Given the description of an element on the screen output the (x, y) to click on. 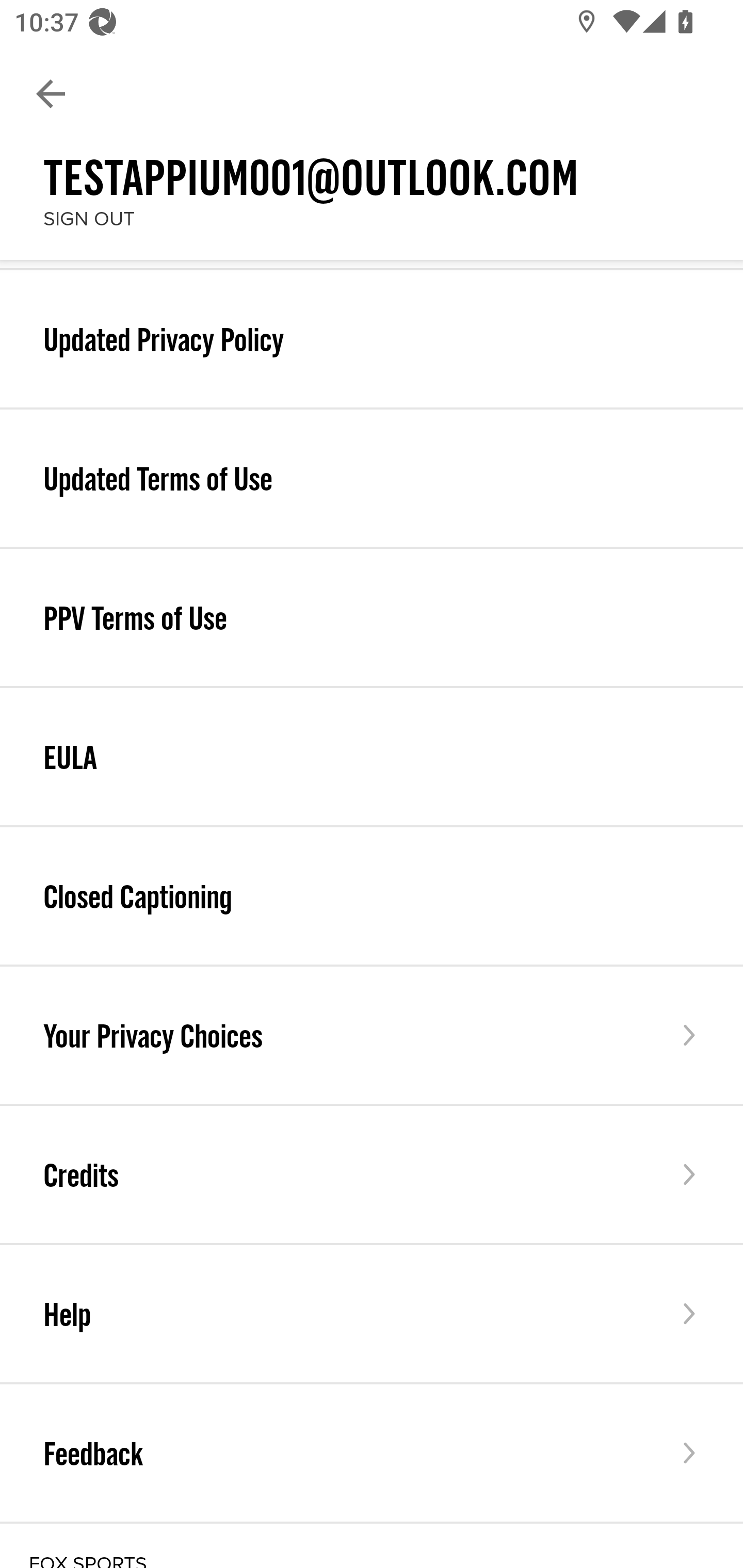
Navigate up (50, 93)
SIGN OUT (88, 218)
Updated Privacy Policy (371, 338)
Updated Terms of Use (371, 478)
PPV Terms of Use (371, 617)
EULA (371, 756)
Closed Captioning (371, 895)
Your Privacy Choices (371, 1034)
Credits (371, 1174)
Help (371, 1313)
Feedback (371, 1452)
